Given the description of an element on the screen output the (x, y) to click on. 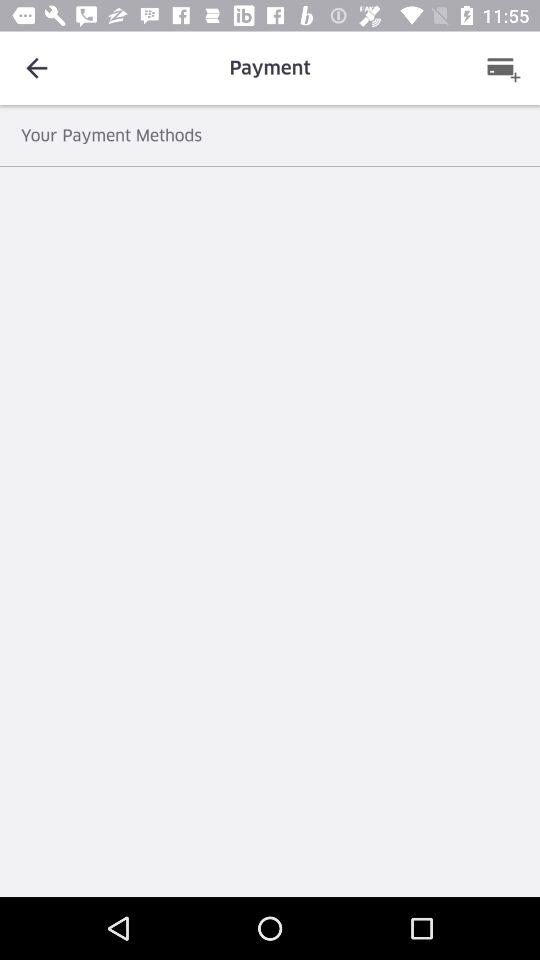
tap the item at the top left corner (36, 68)
